Given the description of an element on the screen output the (x, y) to click on. 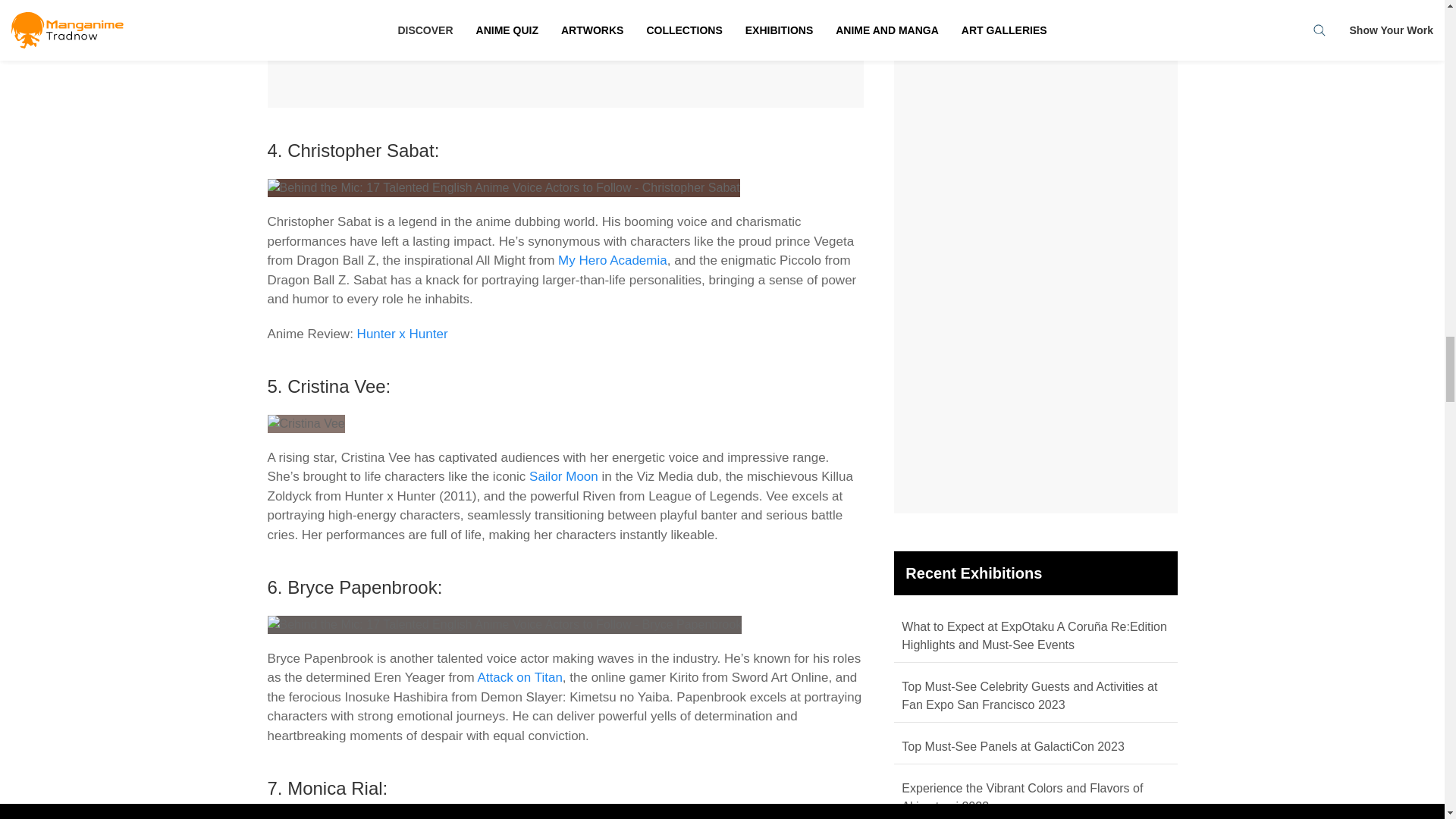
My Hero Academia (611, 260)
Sailor Moon (563, 476)
Hunter x Hunter (402, 333)
Attack on Titan (519, 677)
